Given the description of an element on the screen output the (x, y) to click on. 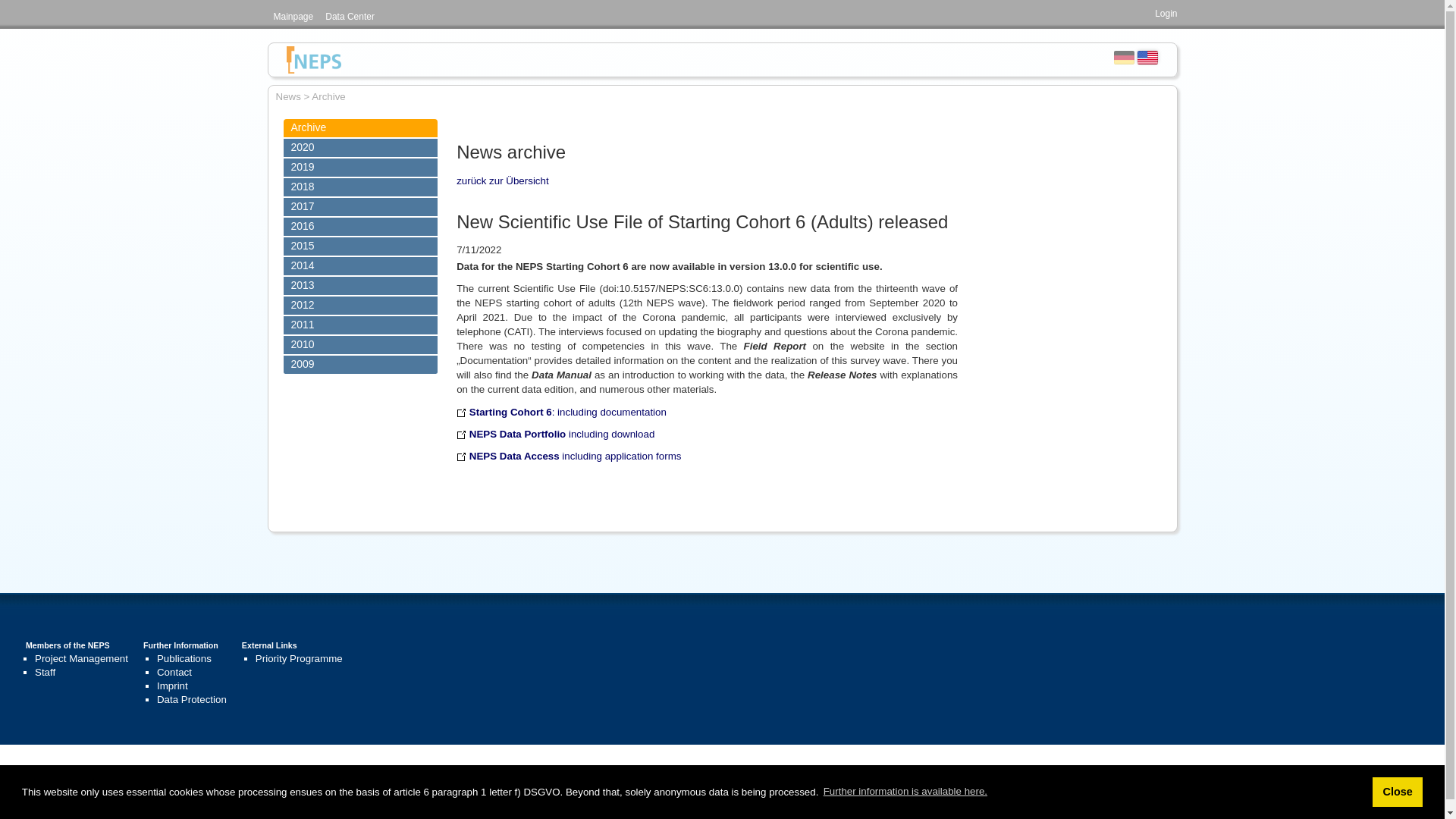
Close (1397, 791)
Mainpage (292, 17)
Login (1165, 13)
Further information is available here. (905, 792)
Data Center (349, 17)
